Given the description of an element on the screen output the (x, y) to click on. 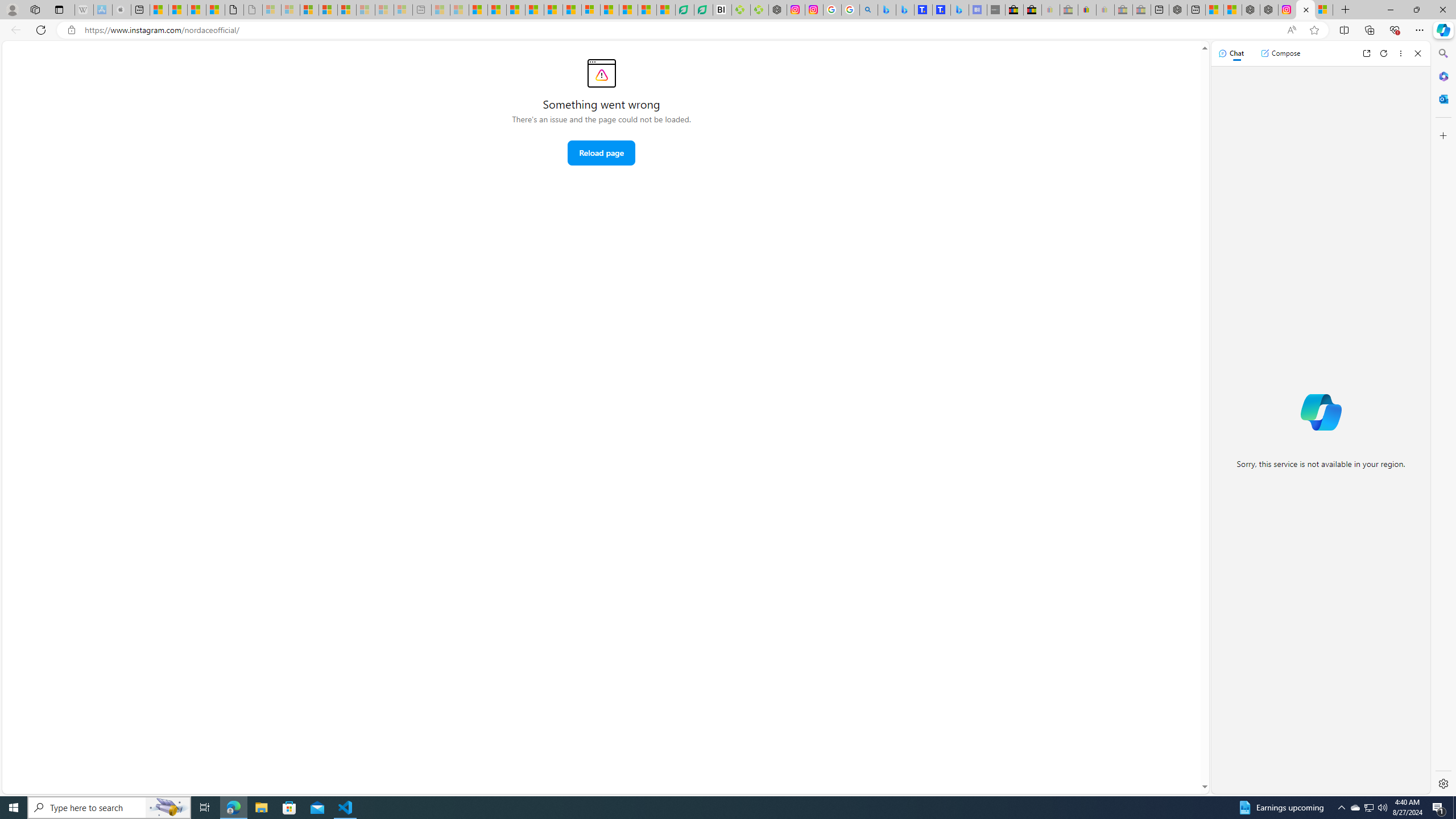
Nvidia va a poner a prueba la paciencia de los inversores (721, 9)
Reload page (600, 152)
Nordace - Summer Adventures 2024 (1268, 9)
Microsoft Bing Travel - Shangri-La Hotel Bangkok (960, 9)
